Given the description of an element on the screen output the (x, y) to click on. 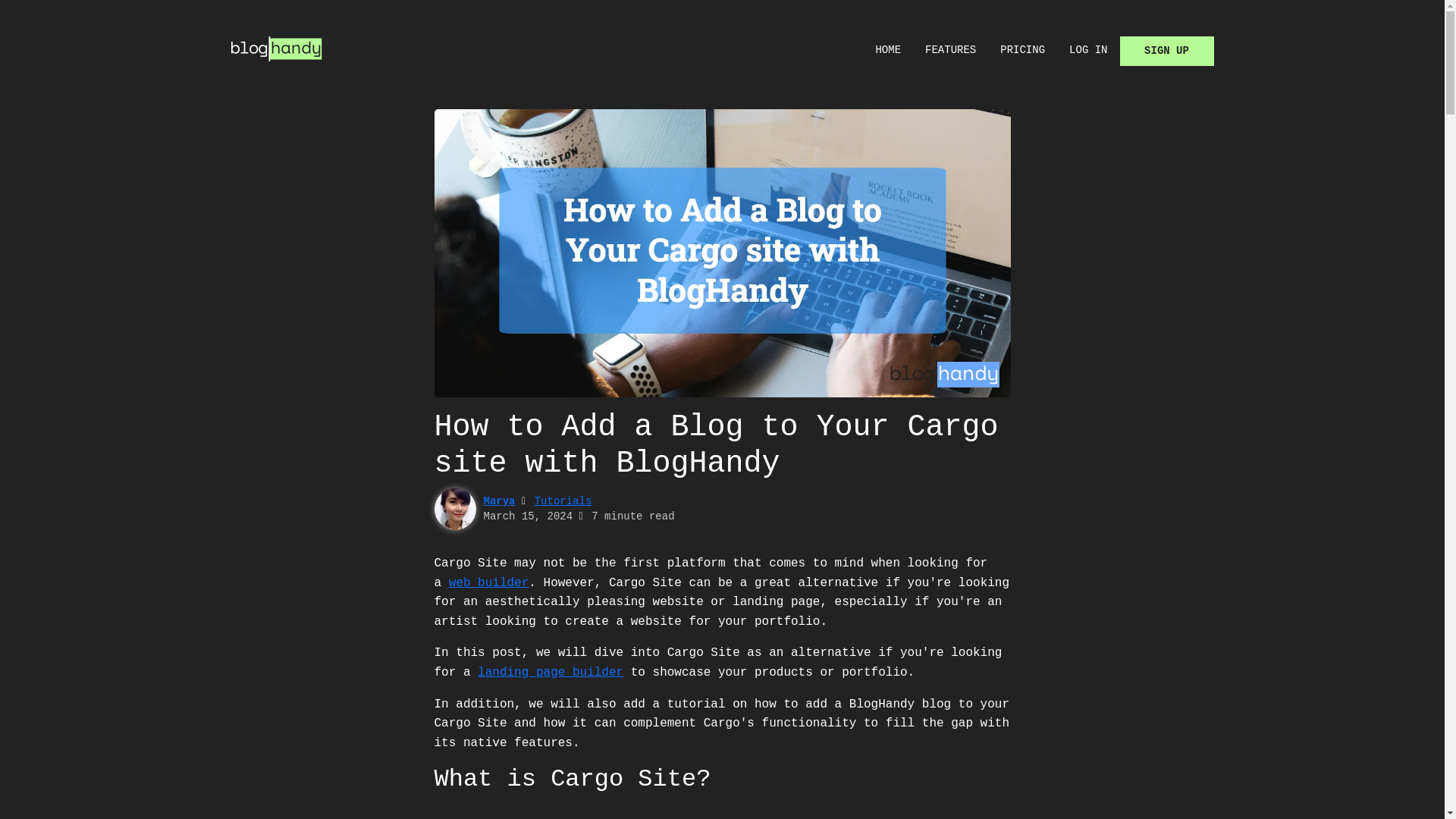
HOME (887, 51)
FEATURES (950, 51)
LOG IN (1088, 51)
web builder (488, 582)
landing page builder (550, 672)
SIGN UP (1165, 51)
Tutorials (563, 500)
Marya (499, 500)
PRICING (1022, 51)
